Given the description of an element on the screen output the (x, y) to click on. 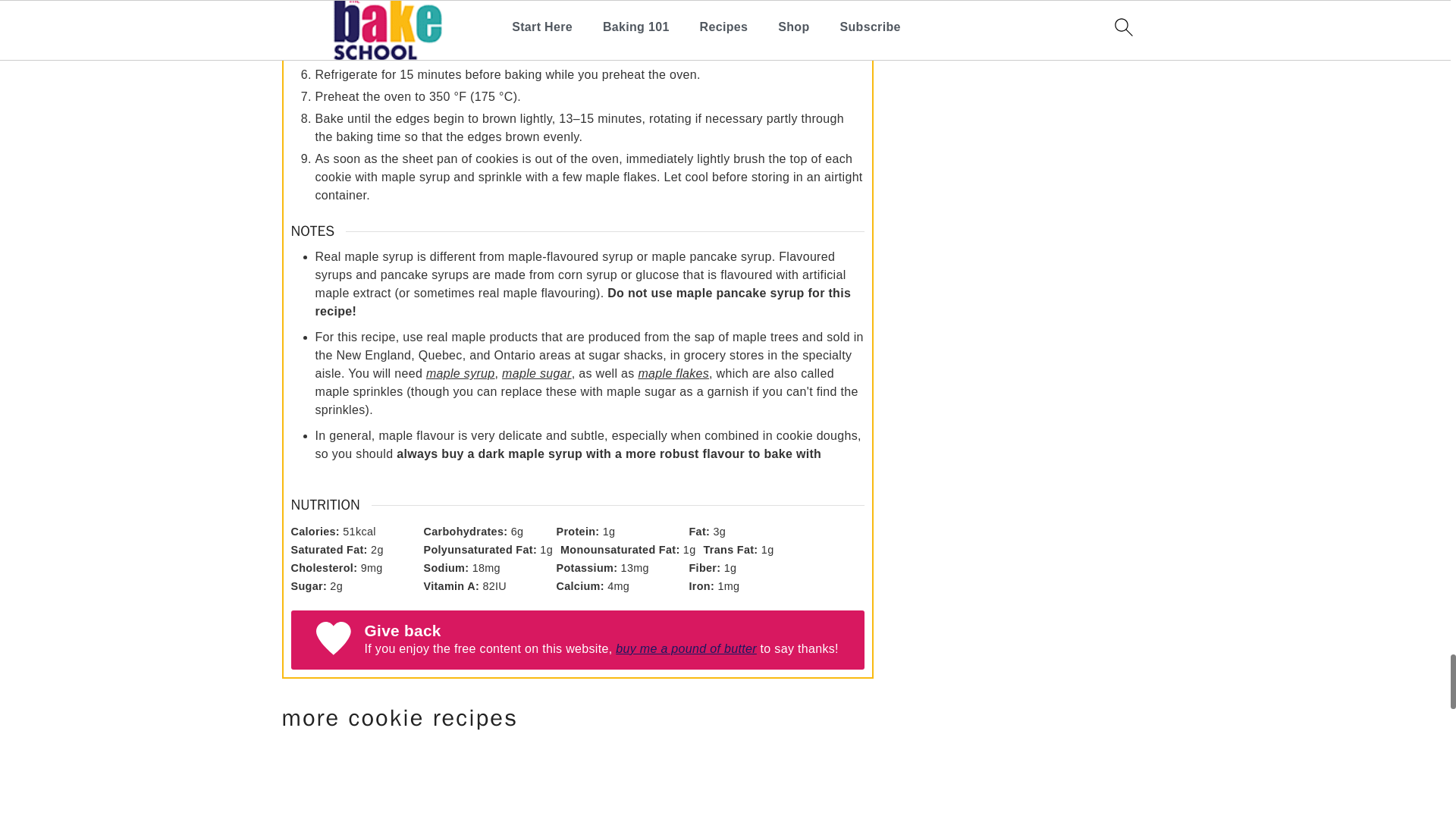
Maple sugar (537, 373)
Maple flakes (673, 373)
Maple Syrup (460, 373)
